Given the description of an element on the screen output the (x, y) to click on. 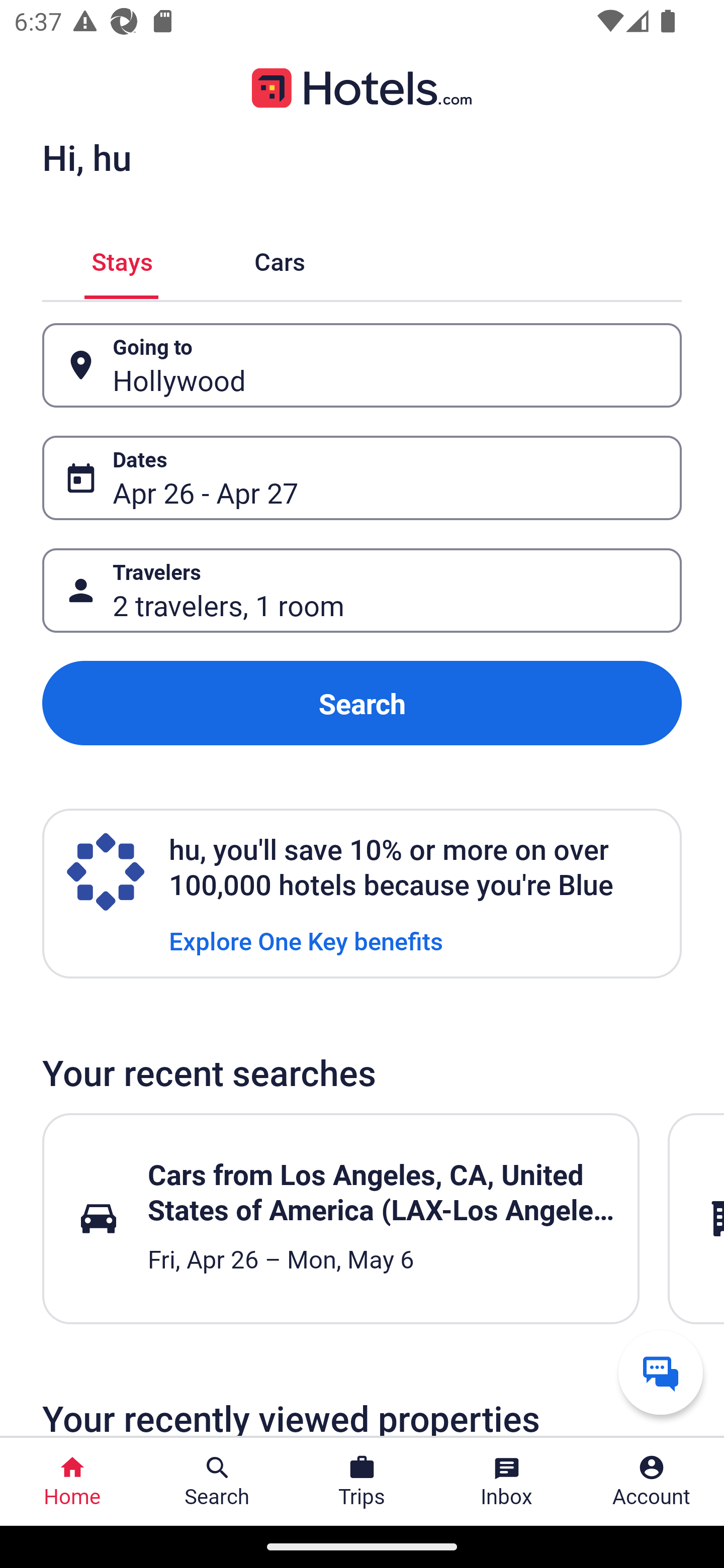
Hi, hu (86, 156)
Cars (279, 259)
Going to Button Hollywood (361, 365)
Dates Button Apr 26 - Apr 27 (361, 477)
Travelers Button 2 travelers, 1 room (361, 590)
Search (361, 702)
Get help from a virtual agent (660, 1371)
Search Search Button (216, 1481)
Trips Trips Button (361, 1481)
Inbox Inbox Button (506, 1481)
Account Profile. Button (651, 1481)
